Given the description of an element on the screen output the (x, y) to click on. 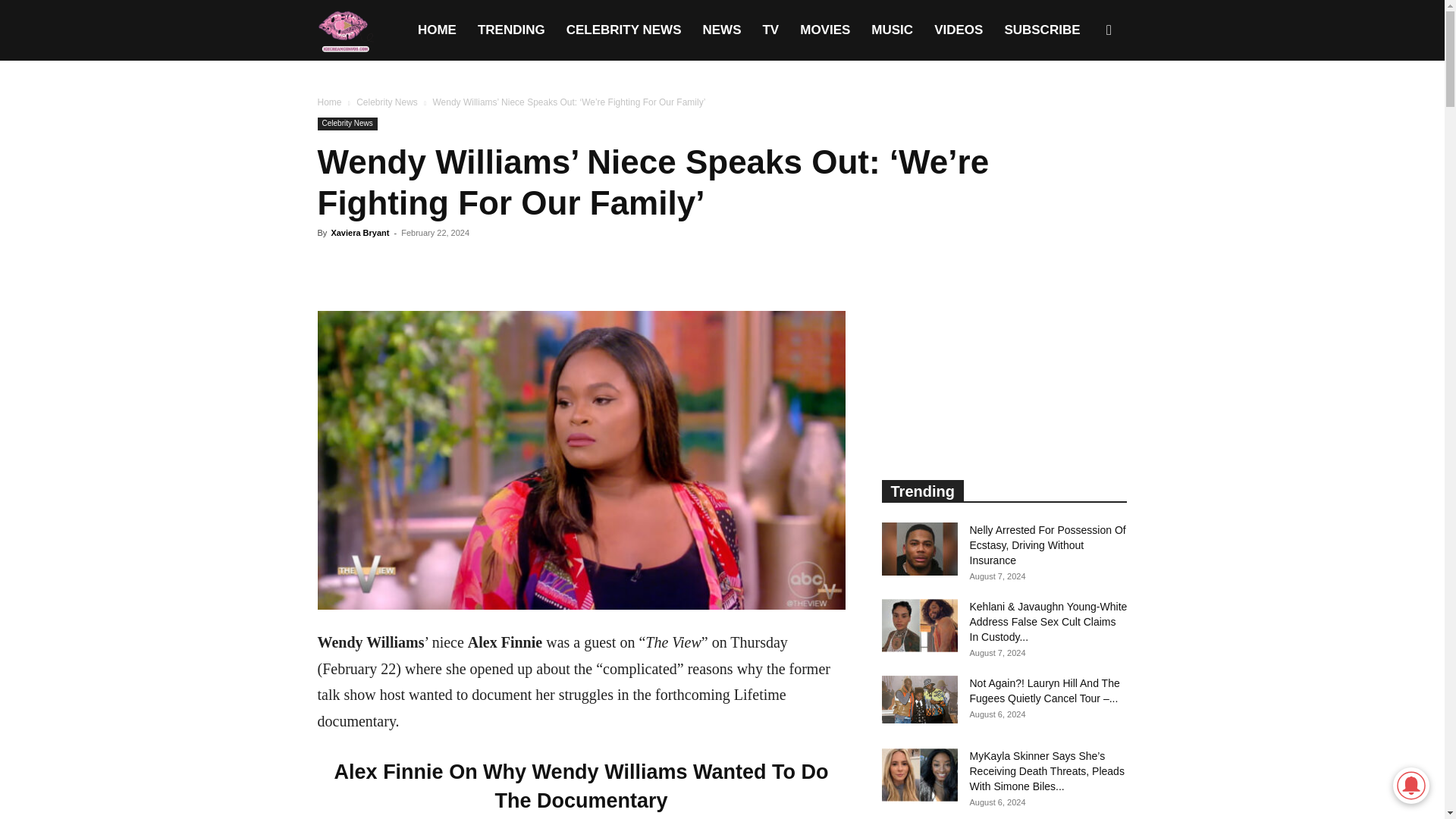
TRENDING (511, 30)
Home (328, 102)
Search (1085, 102)
Ice Cream Convos (344, 30)
View all posts in Celebrity News (386, 102)
MUSIC (891, 30)
MOVIES (824, 30)
VIDEOS (957, 30)
SUBSCRIBE (1041, 30)
CELEBRITY NEWS (624, 30)
HOME (437, 30)
Celebrity News (347, 123)
Celebrity News (386, 102)
NEWS (721, 30)
